Given the description of an element on the screen output the (x, y) to click on. 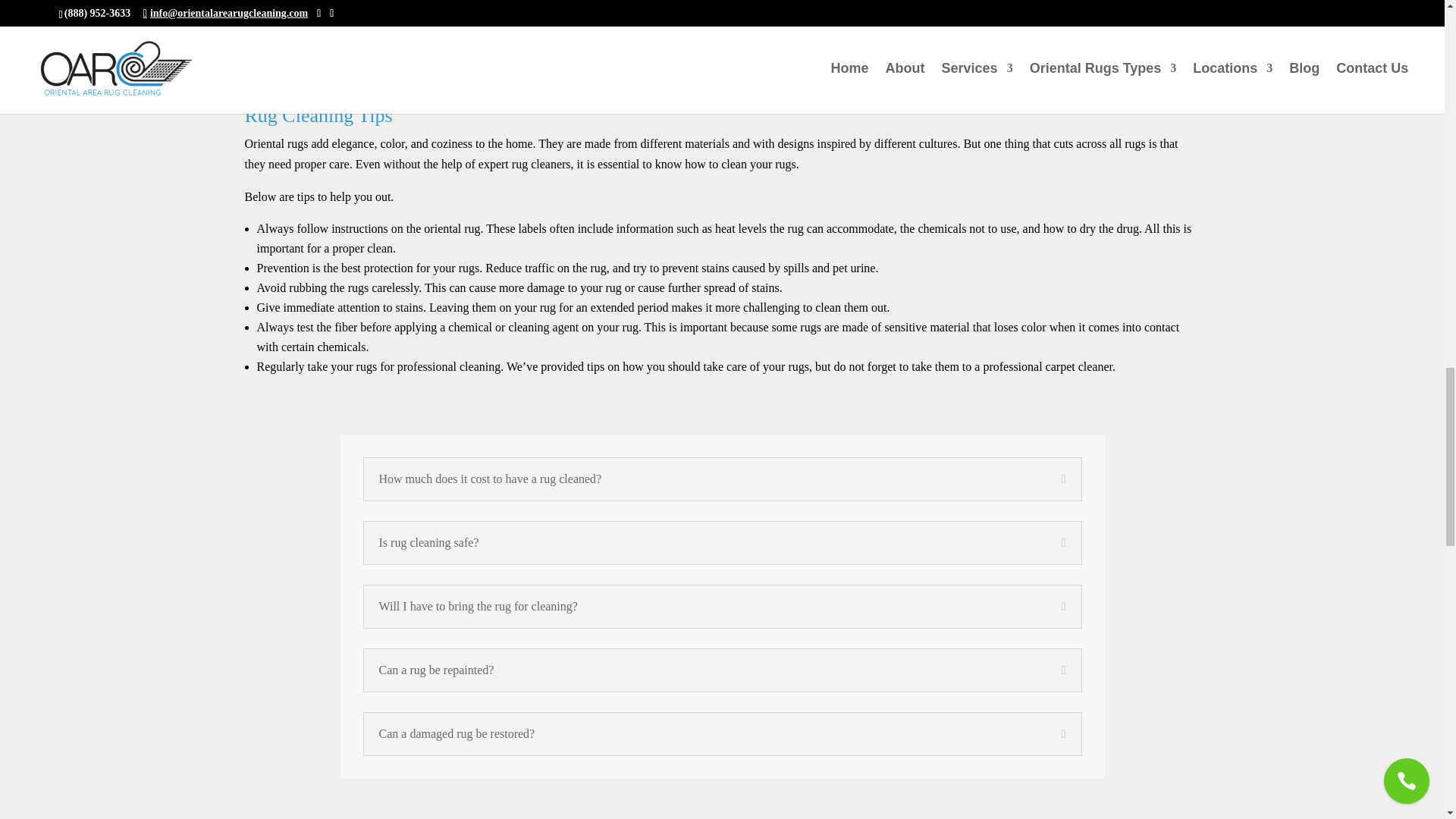
oarc-truck1. (978, 815)
